Given the description of an element on the screen output the (x, y) to click on. 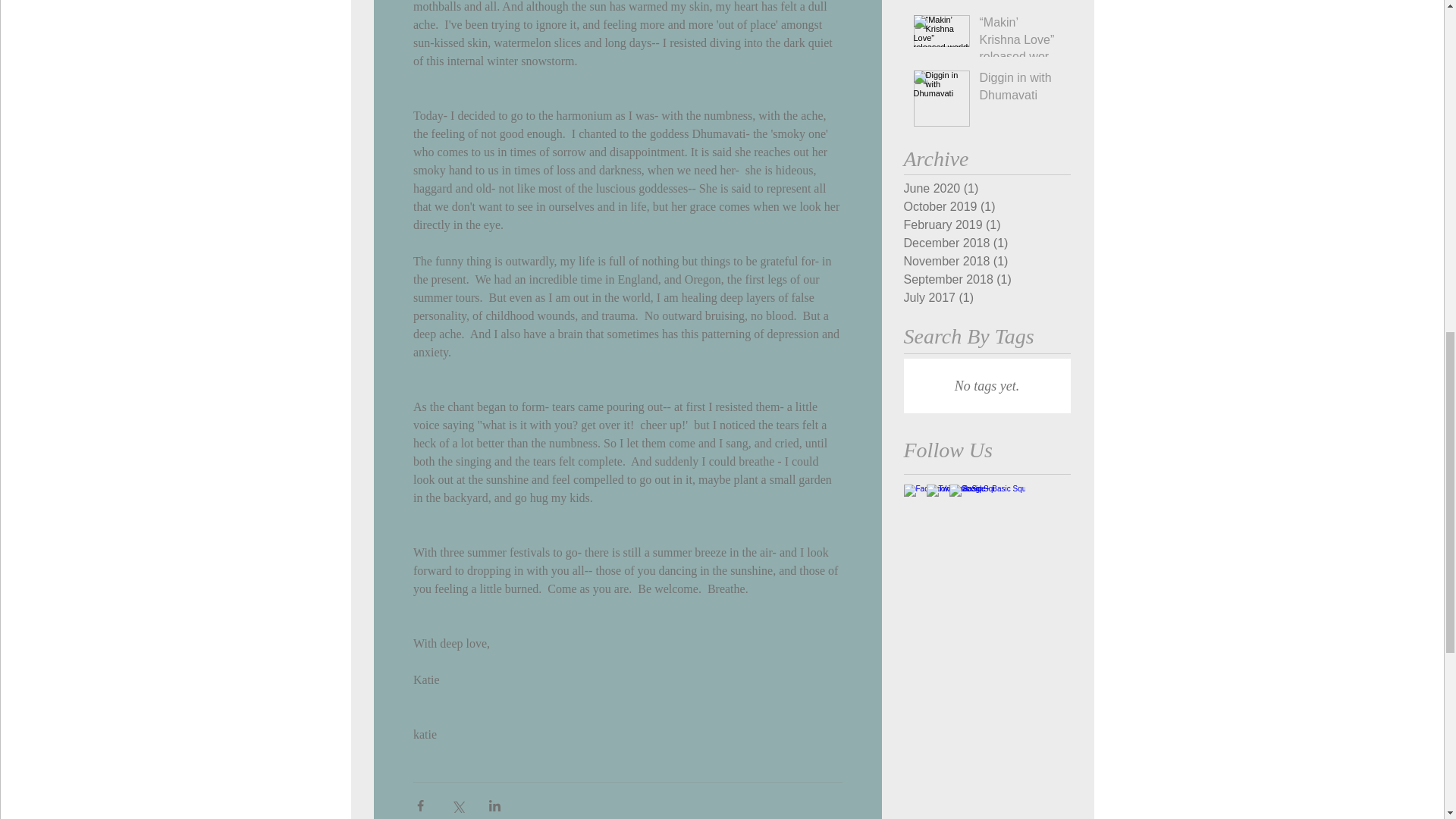
Diggin in with Dhumavati (1020, 89)
